Given the description of an element on the screen output the (x, y) to click on. 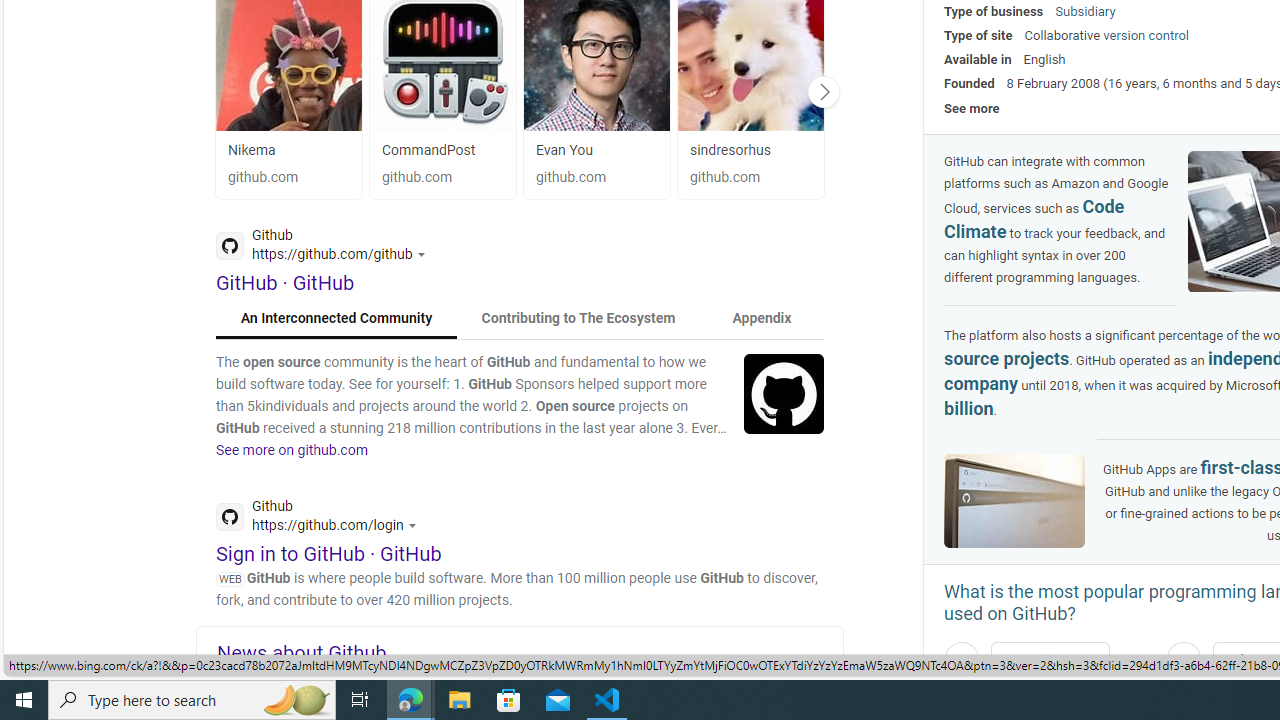
version control (1146, 35)
Click to scroll right (823, 91)
Actions for this site (415, 524)
github.com (750, 178)
Image of GitHub (1014, 502)
